Given the description of an element on the screen output the (x, y) to click on. 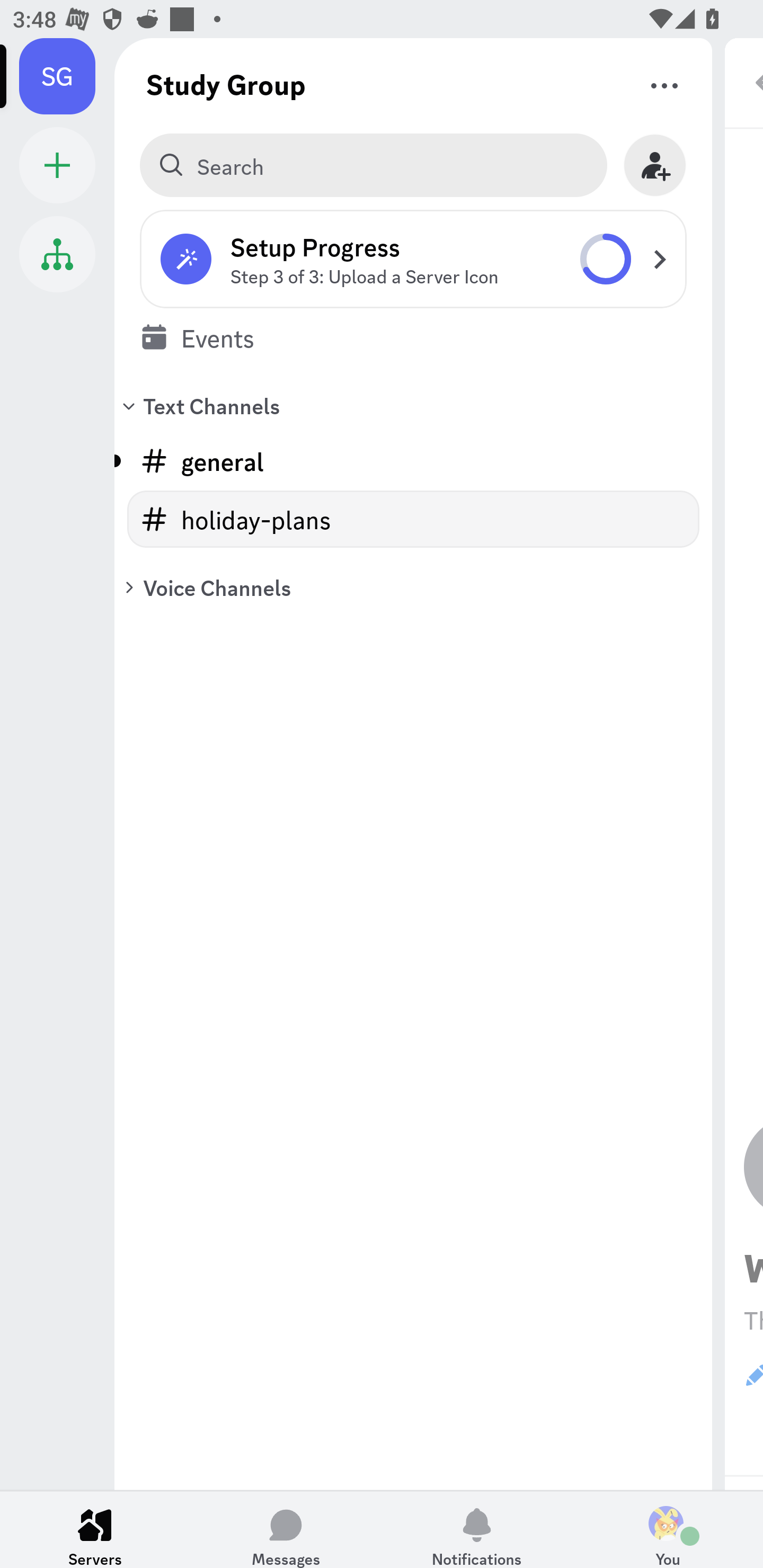
  Study Group SG (66, 75)
Study Group (226, 83)
Add a Server (57, 165)
Search (373, 165)
Invite (654, 165)
Student Hub (57, 253)
Events (413, 336)
Text Channels (412, 404)
unread, general (text channel) general (413, 460)
holiday-plans (text channel) holiday-plans (413, 518)
Voice Channels (412, 586)
Servers (95, 1529)
Messages (285, 1529)
Notifications (476, 1529)
You (667, 1529)
